Given the description of an element on the screen output the (x, y) to click on. 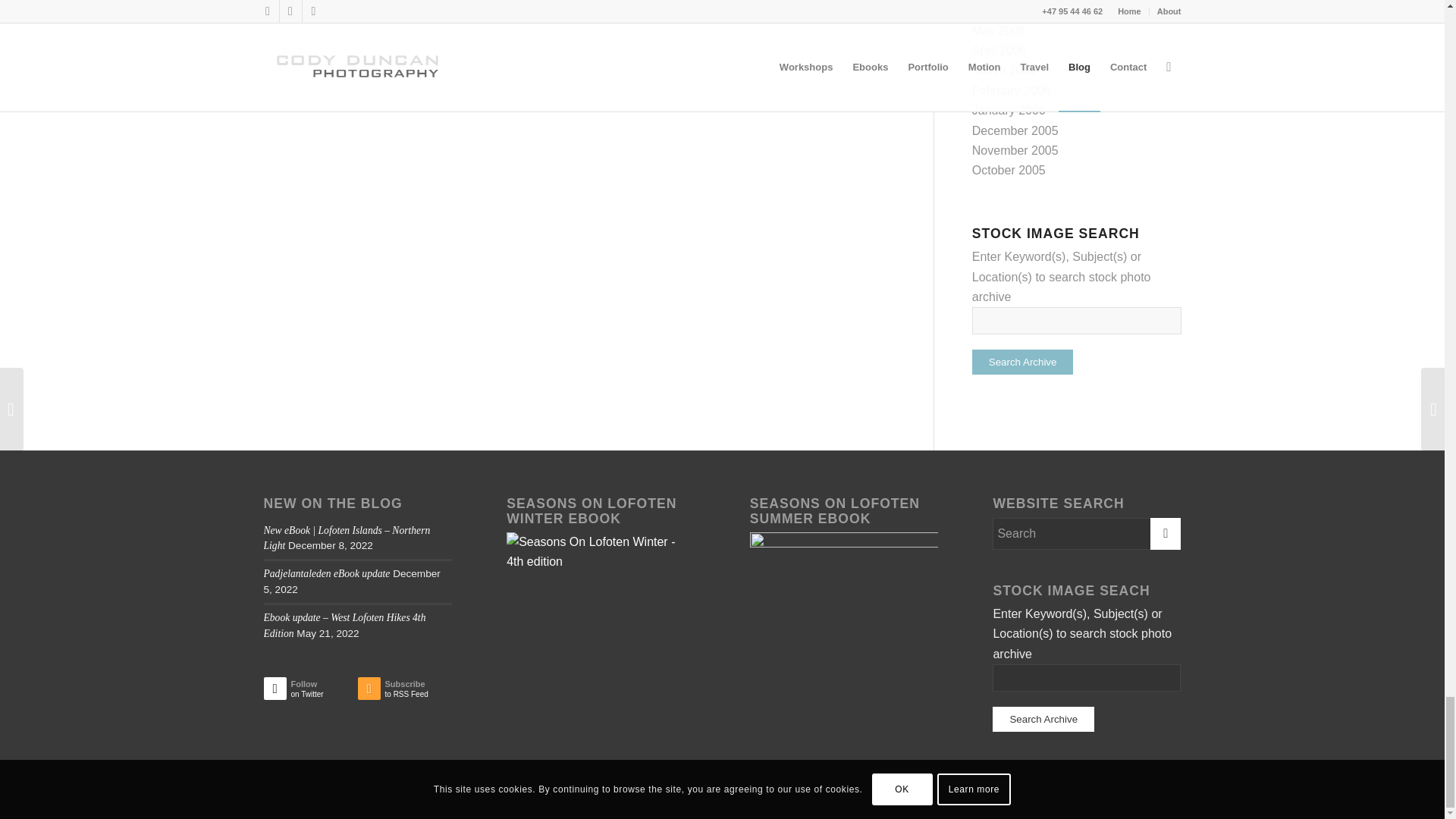
Search Archive (1023, 361)
Search Archive (1043, 719)
